Given the description of an element on the screen output the (x, y) to click on. 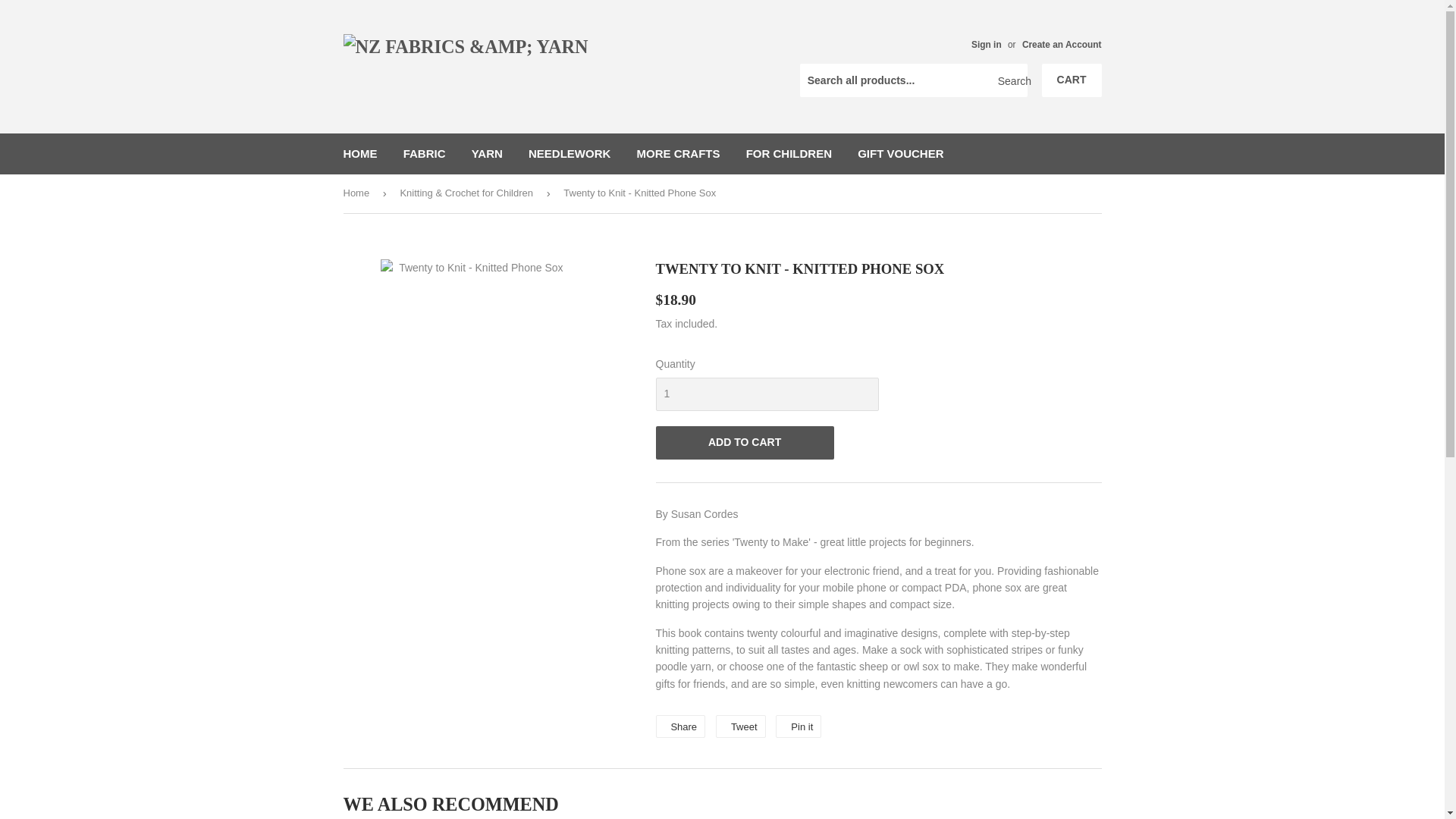
CART (1072, 80)
Share on Facebook (679, 725)
Tweet on Twitter (740, 725)
Sign in (986, 44)
Pin on Pinterest (798, 725)
Search (1009, 81)
1 (766, 394)
Create an Account (1062, 44)
